Given the description of an element on the screen output the (x, y) to click on. 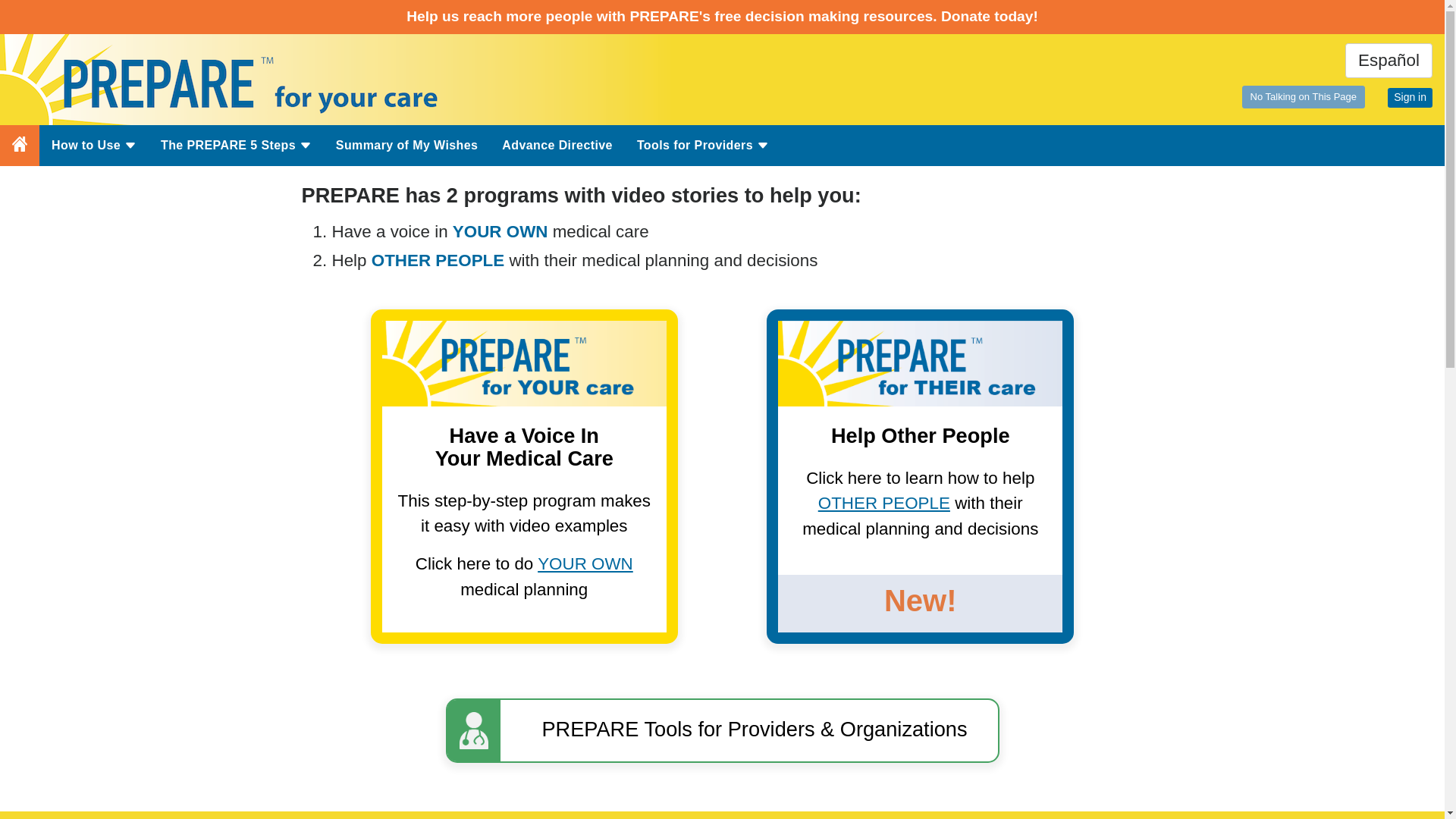
Sign in (1409, 97)
